Given the description of an element on the screen output the (x, y) to click on. 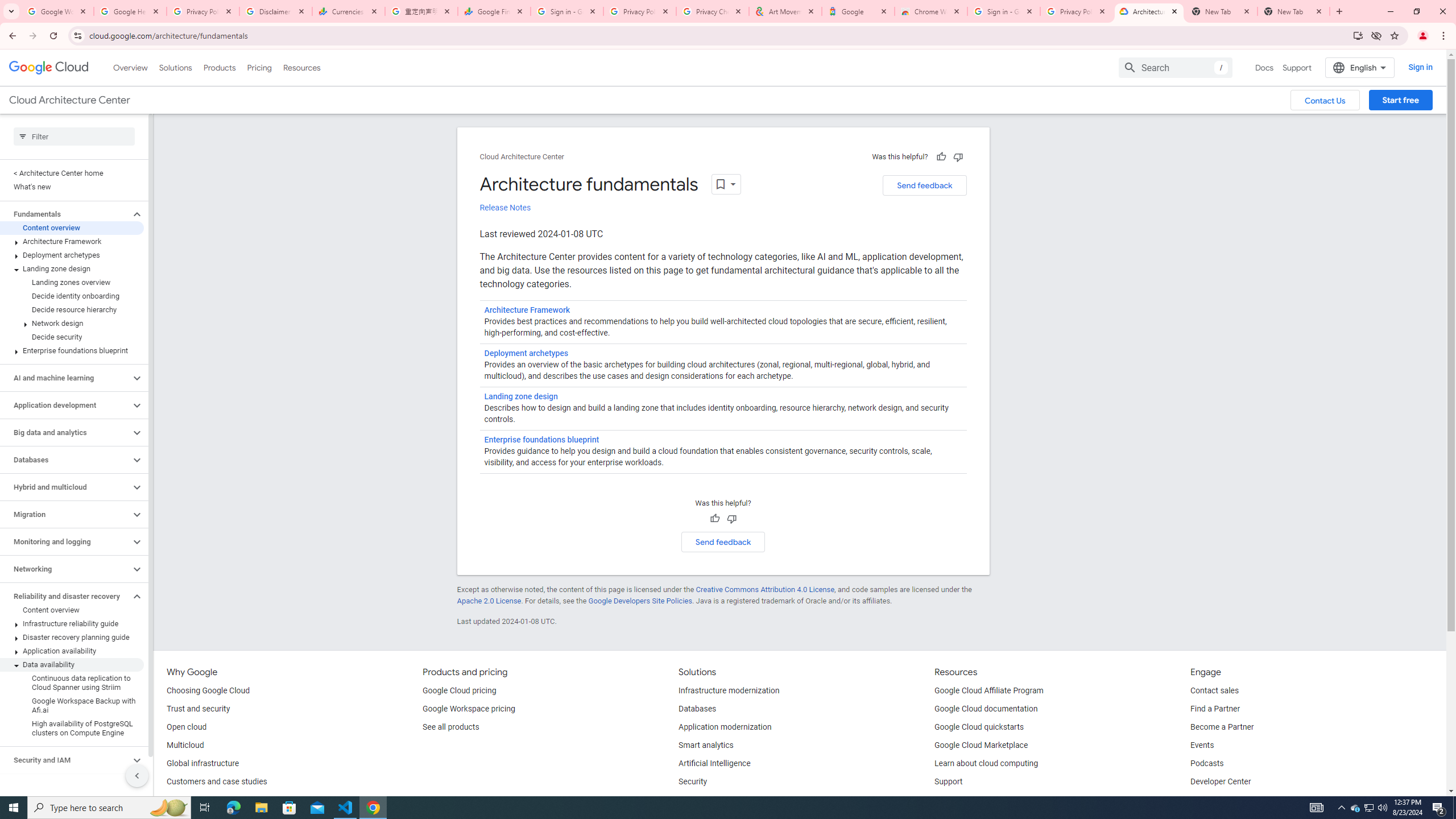
Network design (72, 323)
Find a Partner (1215, 709)
Migration (64, 514)
Google Workspace Admin Community (57, 11)
Google Cloud pricing (459, 691)
High availability of PostgreSQL clusters on Compute Engine (72, 728)
Contact Us (1324, 100)
Code samples (959, 800)
Monitoring and logging (64, 541)
